Given the description of an element on the screen output the (x, y) to click on. 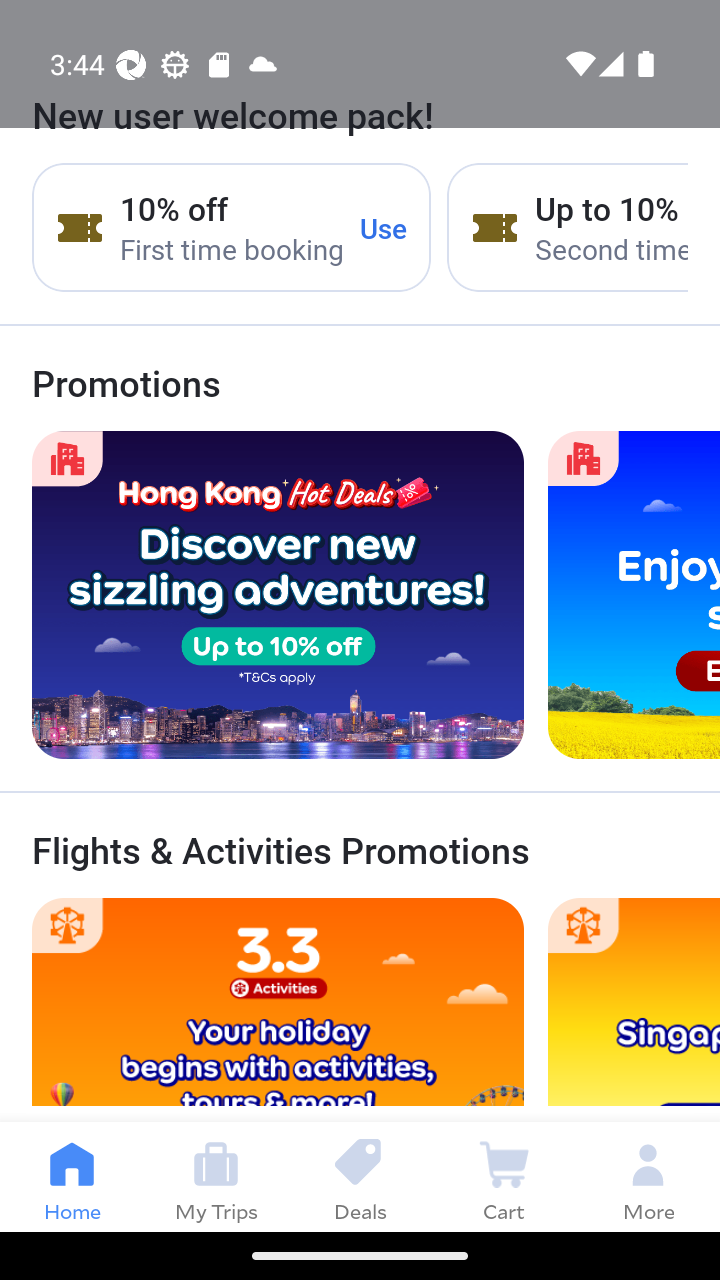
Use (384, 228)
Home (72, 1176)
My Trips (216, 1176)
Deals (360, 1176)
Cart (504, 1176)
More (648, 1176)
